Given the description of an element on the screen output the (x, y) to click on. 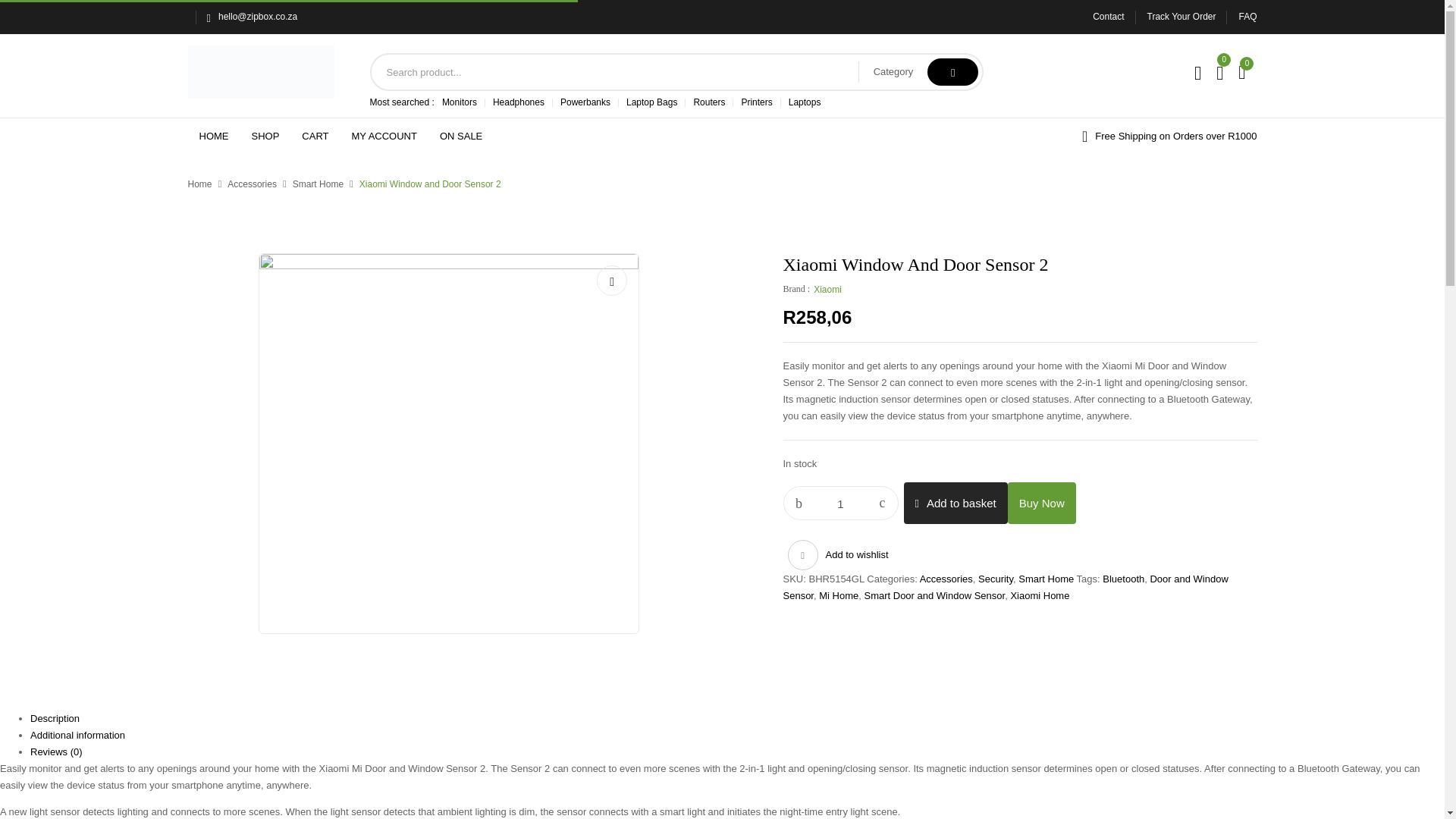
Track Your Order (1181, 16)
Routers (709, 102)
Printers (756, 102)
1 (841, 503)
Laptop Bags (651, 102)
Powerbanks (585, 102)
Monitors (459, 102)
Laptops (805, 102)
Headphones (518, 102)
Contact (1108, 16)
search (952, 71)
FAQ (1247, 16)
